Given the description of an element on the screen output the (x, y) to click on. 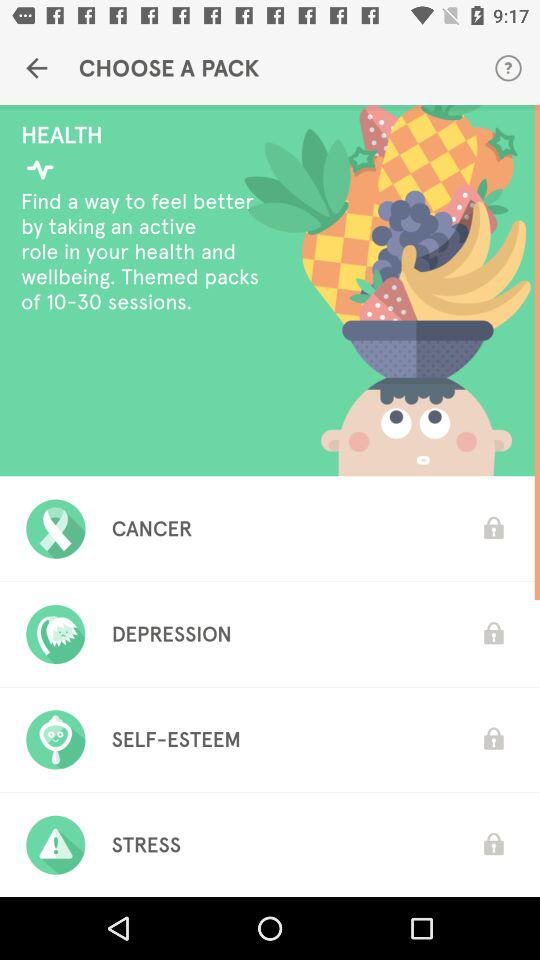
launch icon at the top right corner (508, 67)
